Given the description of an element on the screen output the (x, y) to click on. 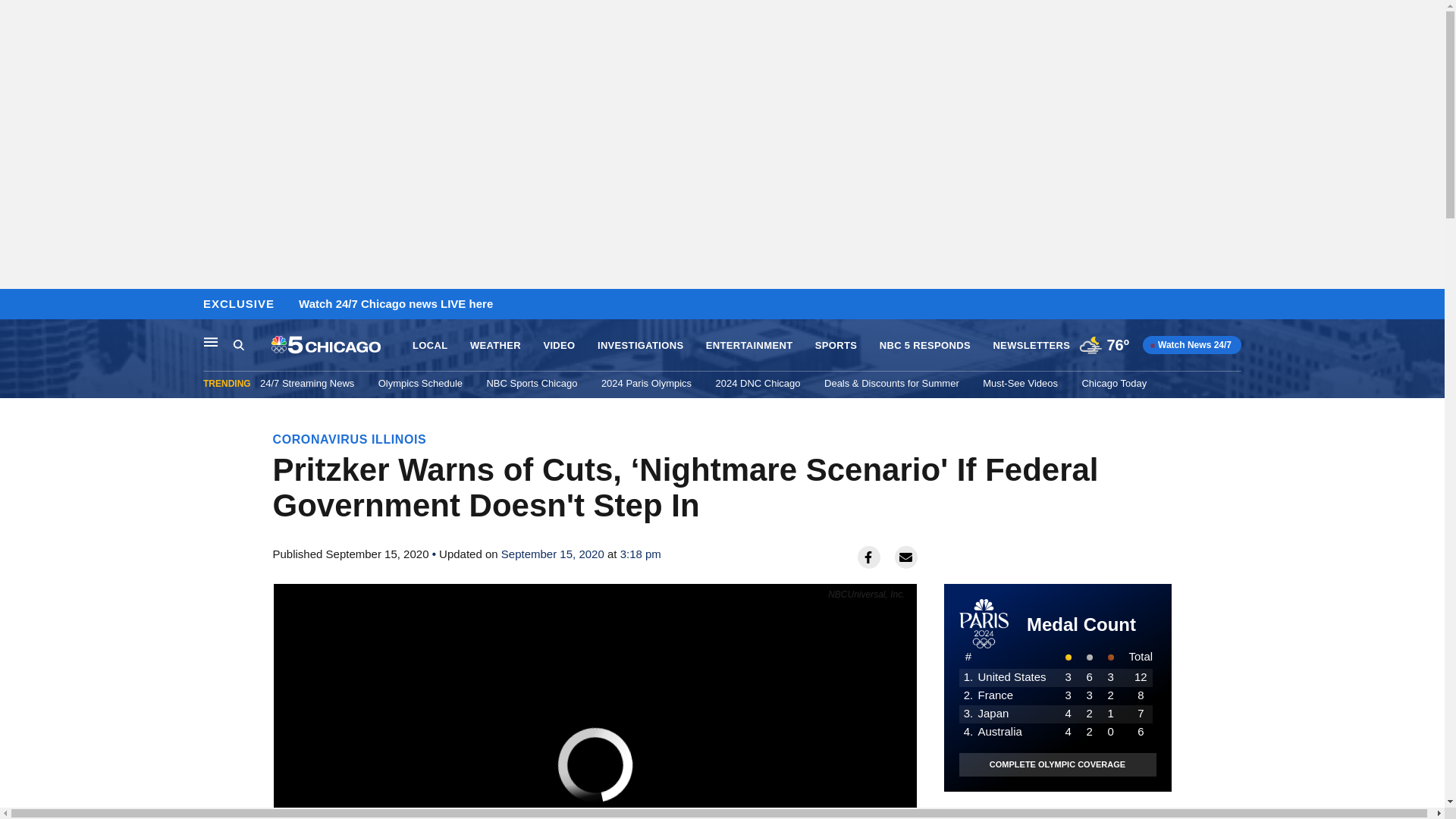
CORONAVIRUS ILLINOIS (349, 439)
NBC Sports Chicago (531, 383)
INVESTIGATIONS (639, 345)
VIDEO (559, 345)
Olympics Schedule (420, 383)
NBC 5 RESPONDS (925, 345)
2024 DNC Chicago (758, 383)
LOCAL (429, 345)
Search (252, 345)
WEATHER (495, 345)
Must-See Videos (1020, 383)
ENTERTAINMENT (749, 345)
SPORTS (836, 345)
